Given the description of an element on the screen output the (x, y) to click on. 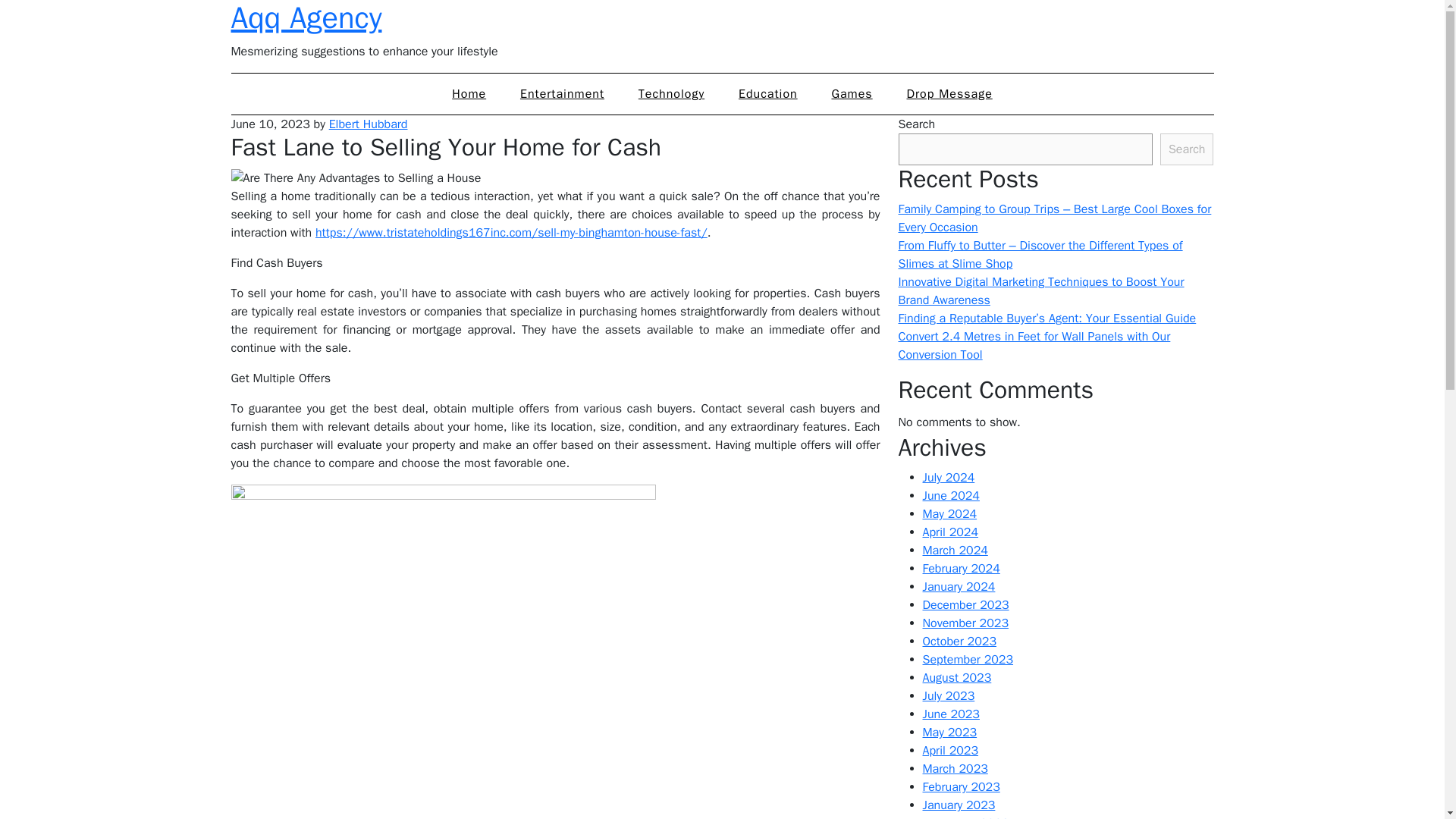
Entertainment (562, 93)
Drop Message (949, 93)
May 2023 (948, 732)
September 2023 (967, 659)
June 2024 (949, 495)
January 2024 (957, 586)
Games (850, 93)
Technology (671, 93)
October 2023 (958, 641)
